Given the description of an element on the screen output the (x, y) to click on. 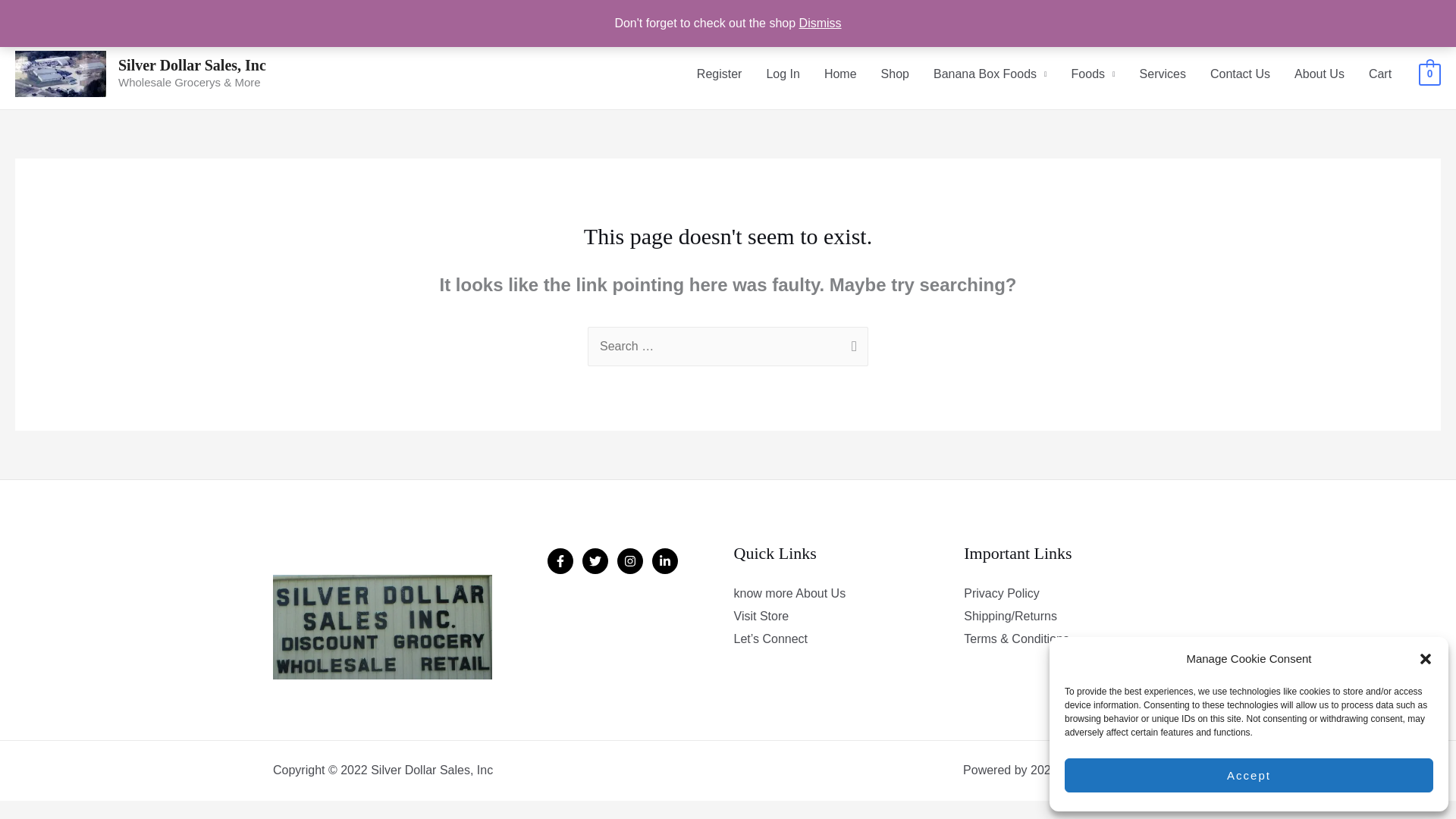
Banana Box Foods (990, 72)
Foods (1092, 72)
Search (850, 344)
Shop (895, 72)
View your shopping cart (1429, 72)
Home (840, 72)
Register (719, 72)
Silver Dollar Sales, Inc (191, 64)
Search (850, 344)
Accept (1248, 775)
Log In (782, 72)
